Given the description of an element on the screen output the (x, y) to click on. 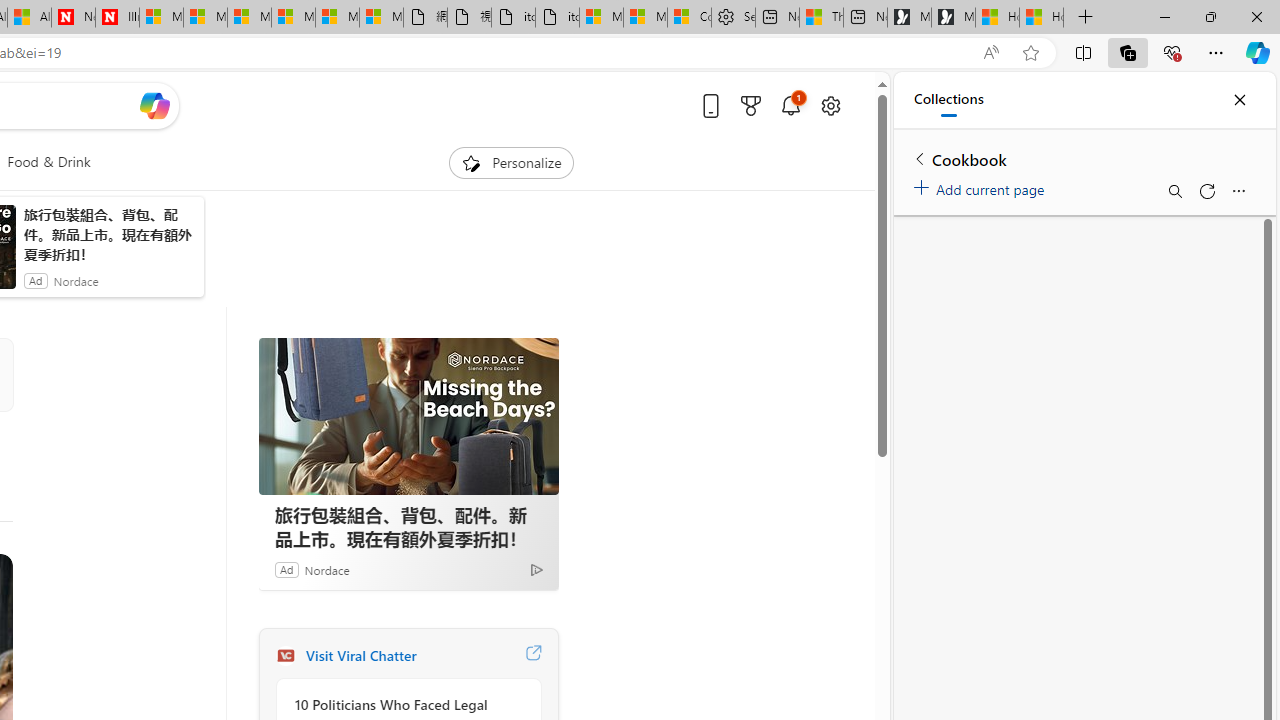
Open Copilot (155, 105)
Collections (948, 99)
Food & Drink (48, 162)
